Given the description of an element on the screen output the (x, y) to click on. 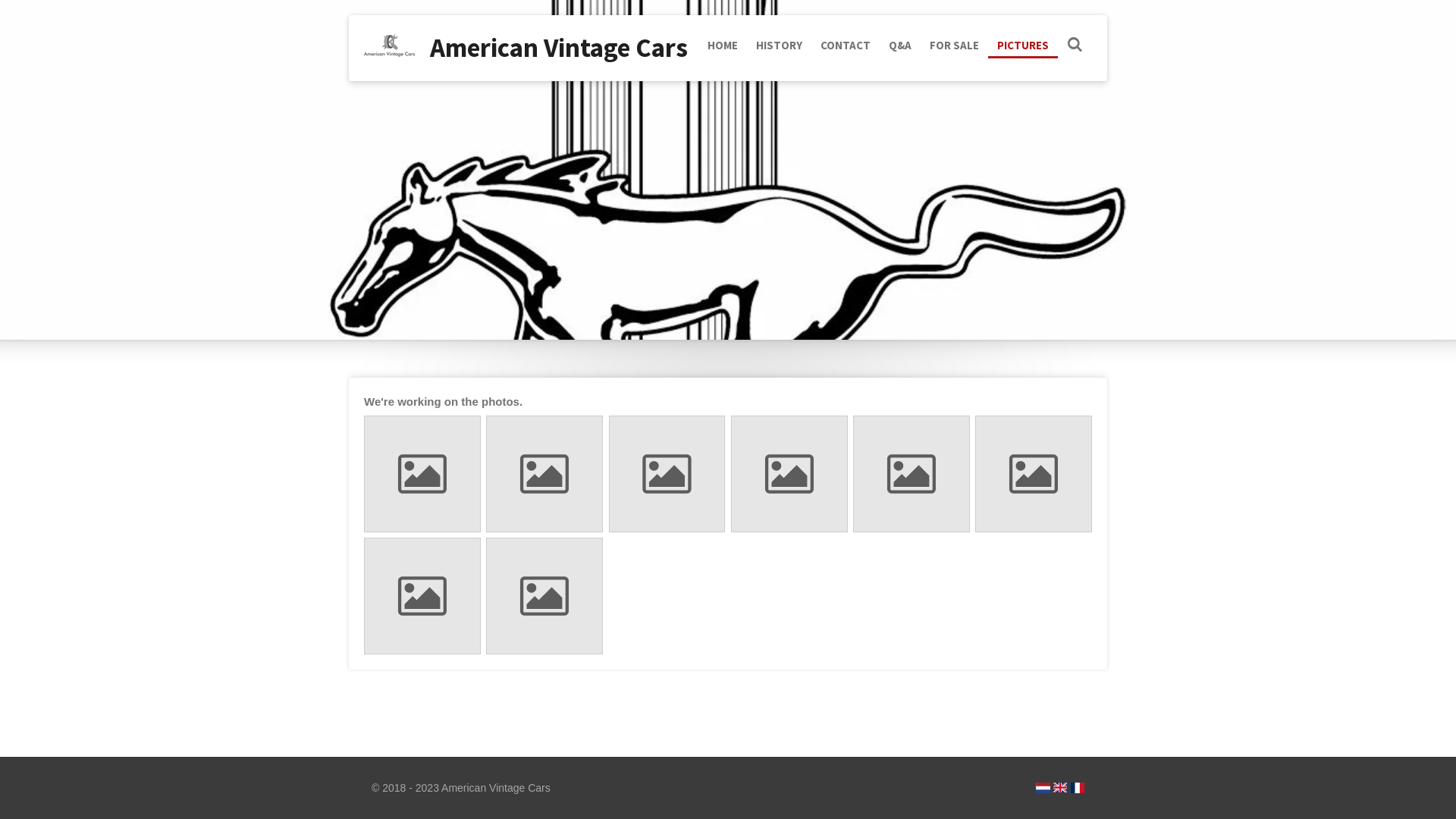
Q&A Element type: text (899, 45)
CONTACT Element type: text (845, 45)
FOR SALE Element type: text (954, 45)
American Vintage Cars Element type: text (558, 46)
American Vintage Cars Element type: hover (389, 45)
HISTORY Element type: text (778, 45)
PICTURES Element type: text (1022, 45)
HOME Element type: text (722, 45)
Search Element type: hover (1074, 45)
Current language Element type: hover (1060, 787)
